Given the description of an element on the screen output the (x, y) to click on. 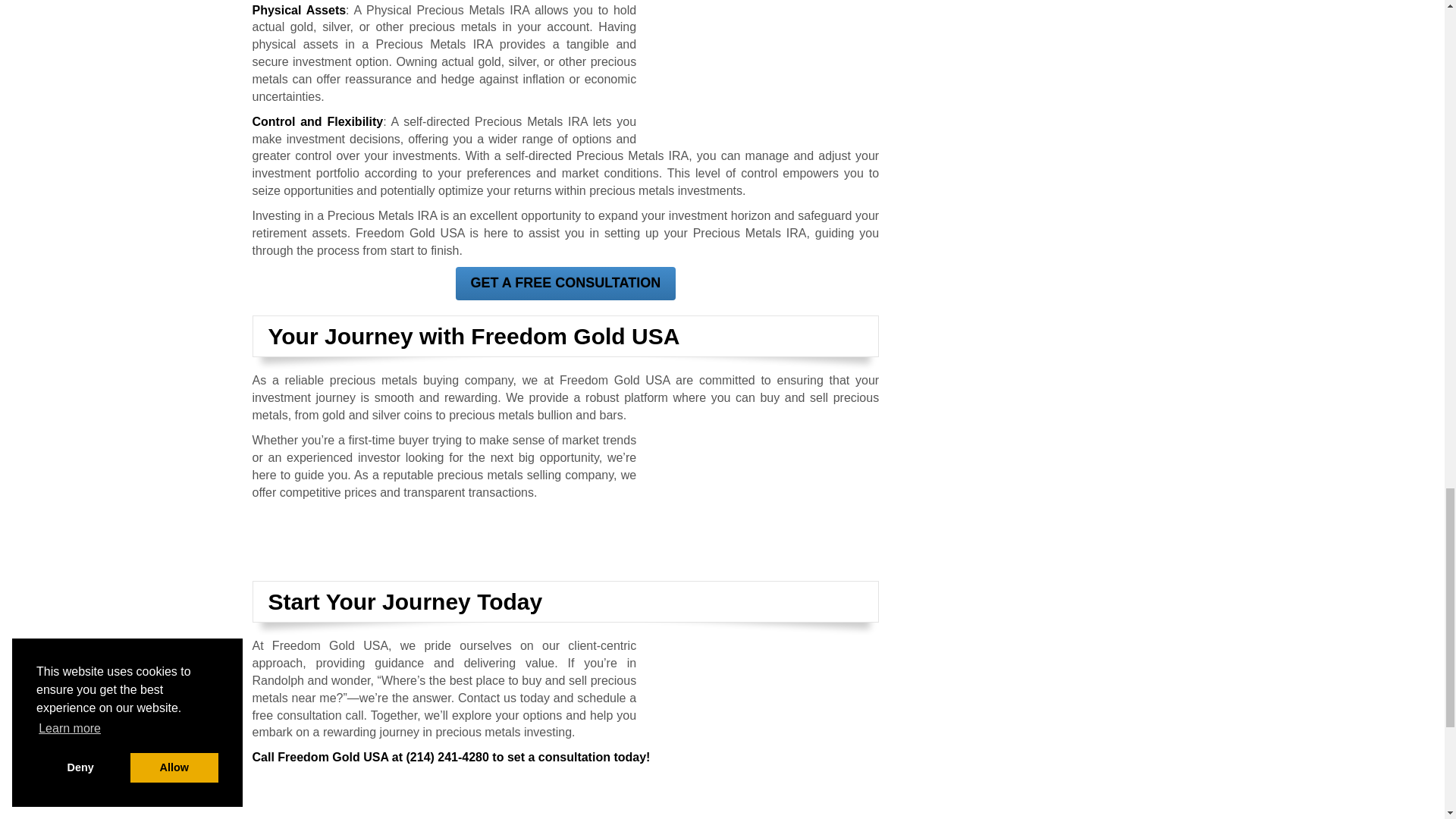
GET A FREE CONSULTATION (564, 283)
